Given the description of an element on the screen output the (x, y) to click on. 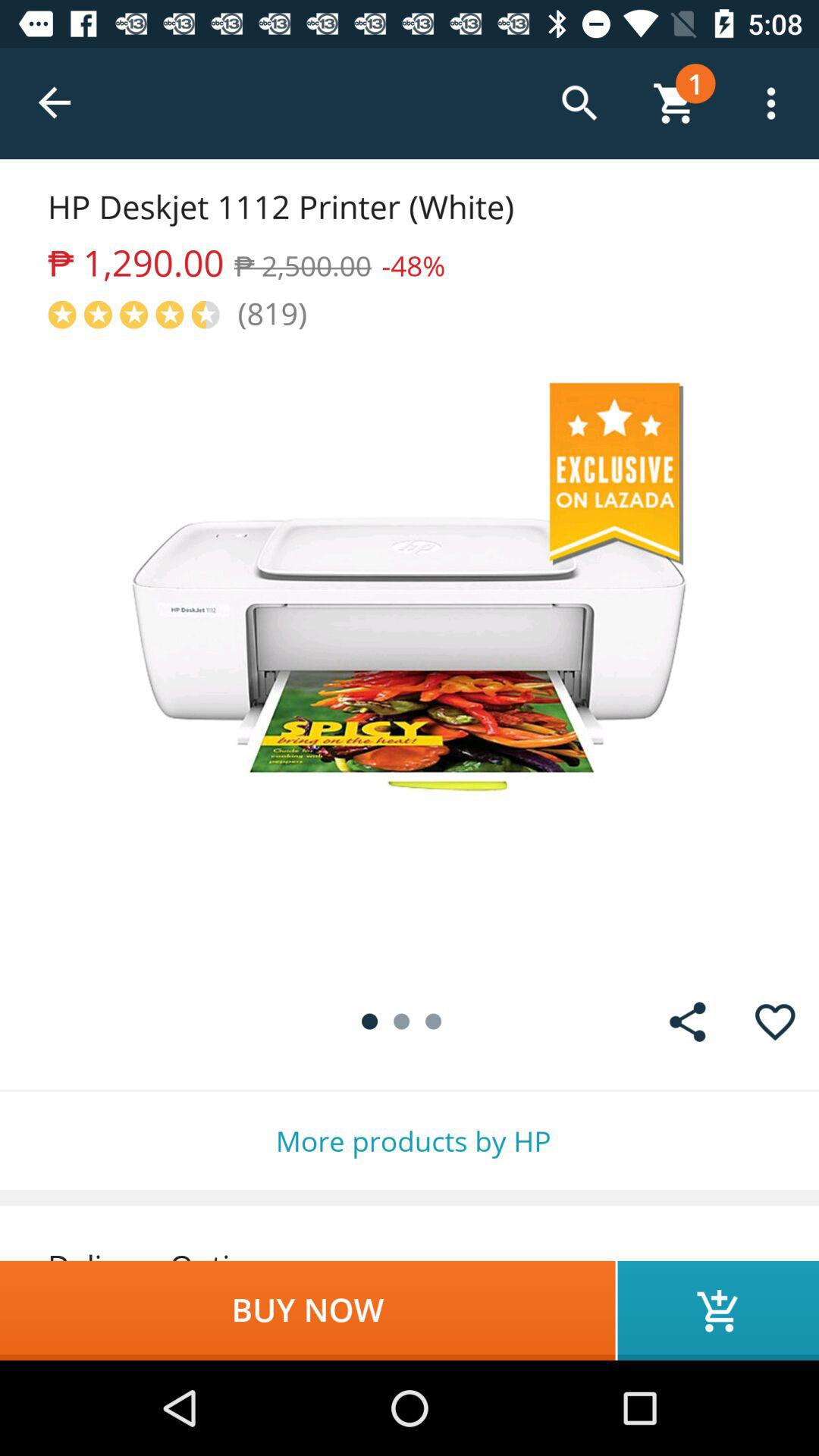
like this product (775, 1021)
